Given the description of an element on the screen output the (x, y) to click on. 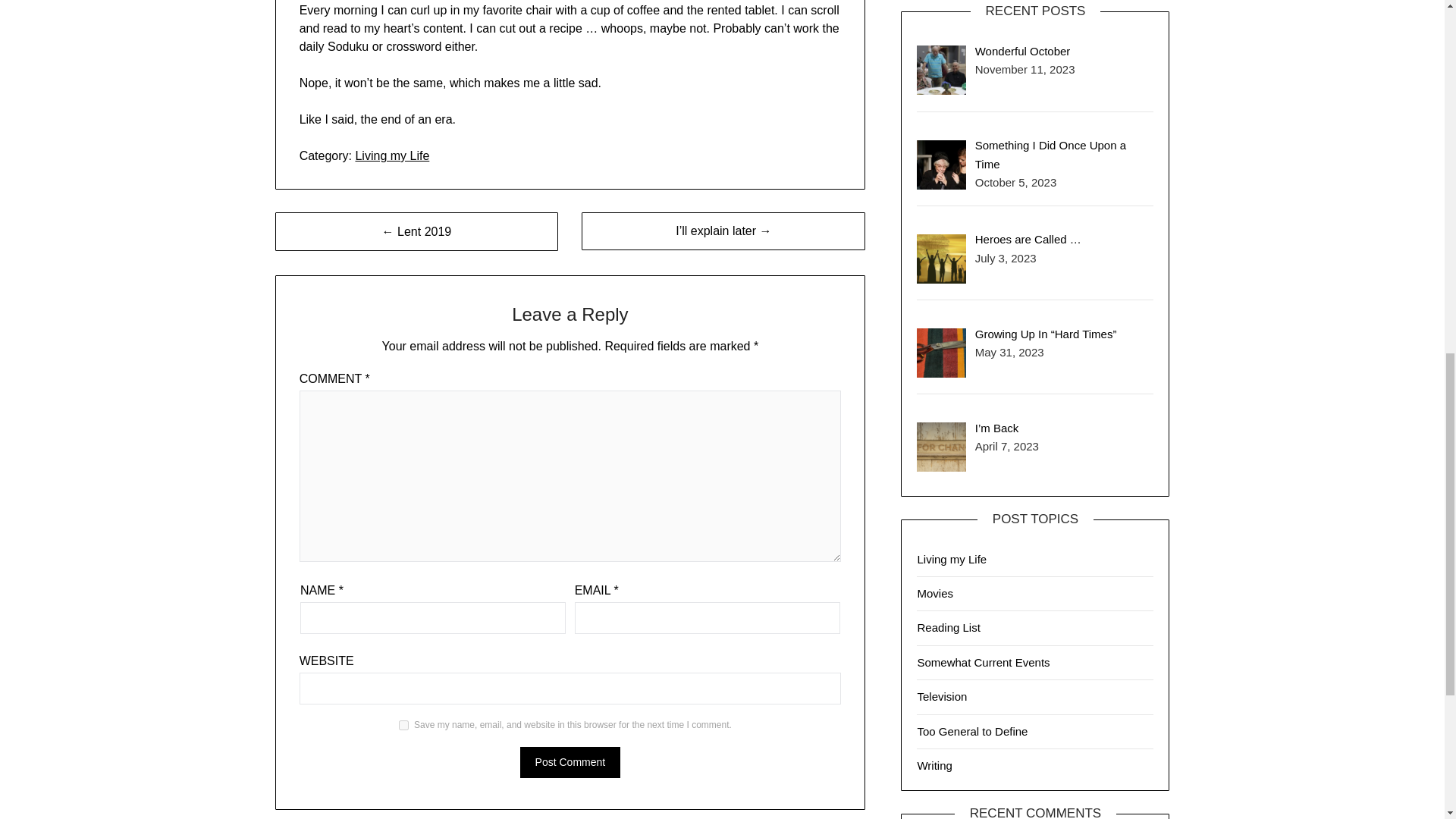
Reading List (948, 626)
Too General to Define (972, 730)
yes (403, 725)
Post Comment (570, 762)
Something I Did Once Upon a Time (1050, 153)
Wonderful October (1022, 51)
Somewhat Current Events (983, 662)
Television (941, 696)
Post Comment (570, 762)
Living my Life (392, 155)
Movies (935, 593)
Writing (934, 765)
Living my Life (952, 558)
